Given the description of an element on the screen output the (x, y) to click on. 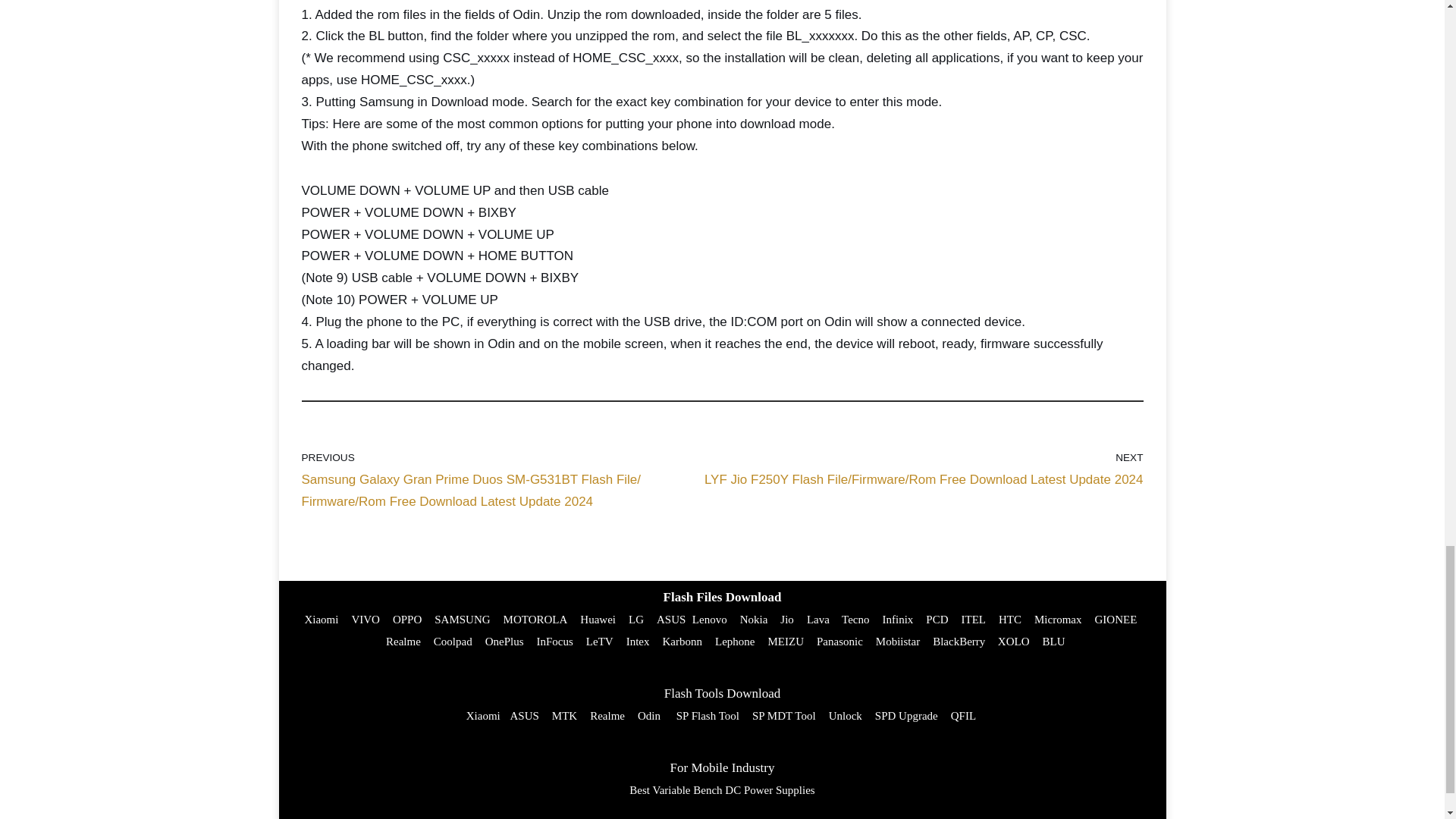
VIVO (365, 619)
Xiaomi (320, 619)
